Given the description of an element on the screen output the (x, y) to click on. 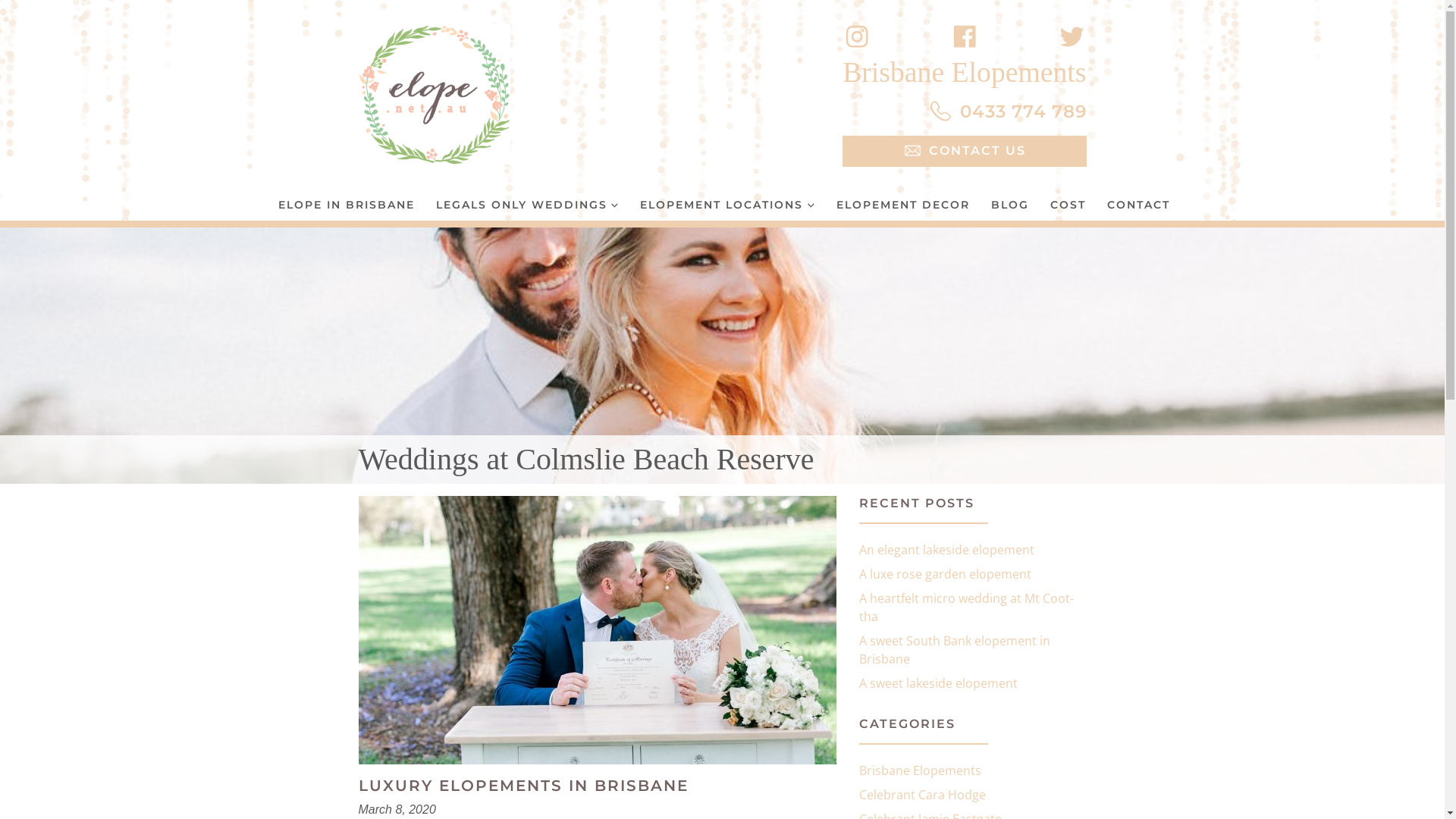
A heartfelt micro wedding at Mt Coot-tha Element type: text (965, 606)
ELOPEMENT LOCATIONS Element type: text (727, 204)
ELOPE IN BRISBANE Element type: text (345, 204)
A luxe rose garden elopement Element type: text (944, 573)
A sweet South Bank elopement in Brisbane Element type: text (953, 649)
LEGALS ONLY WEDDINGS Element type: text (526, 204)
COST Element type: text (1067, 204)
CONTACT Element type: text (1138, 204)
A sweet lakeside elopement Element type: text (937, 682)
CONTACT US Element type: text (963, 150)
Celebrant Cara Hodge Element type: text (921, 794)
0433 774 789 Element type: text (1006, 112)
ELOPEMENT DECOR Element type: text (902, 204)
BLOG Element type: text (1009, 204)
Brisbane Elopements Element type: text (919, 770)
March 8, 2020 Element type: text (396, 809)
LUXURY ELOPEMENTS IN BRISBANE Element type: text (522, 785)
An elegant lakeside elopement Element type: text (945, 549)
